Given the description of an element on the screen output the (x, y) to click on. 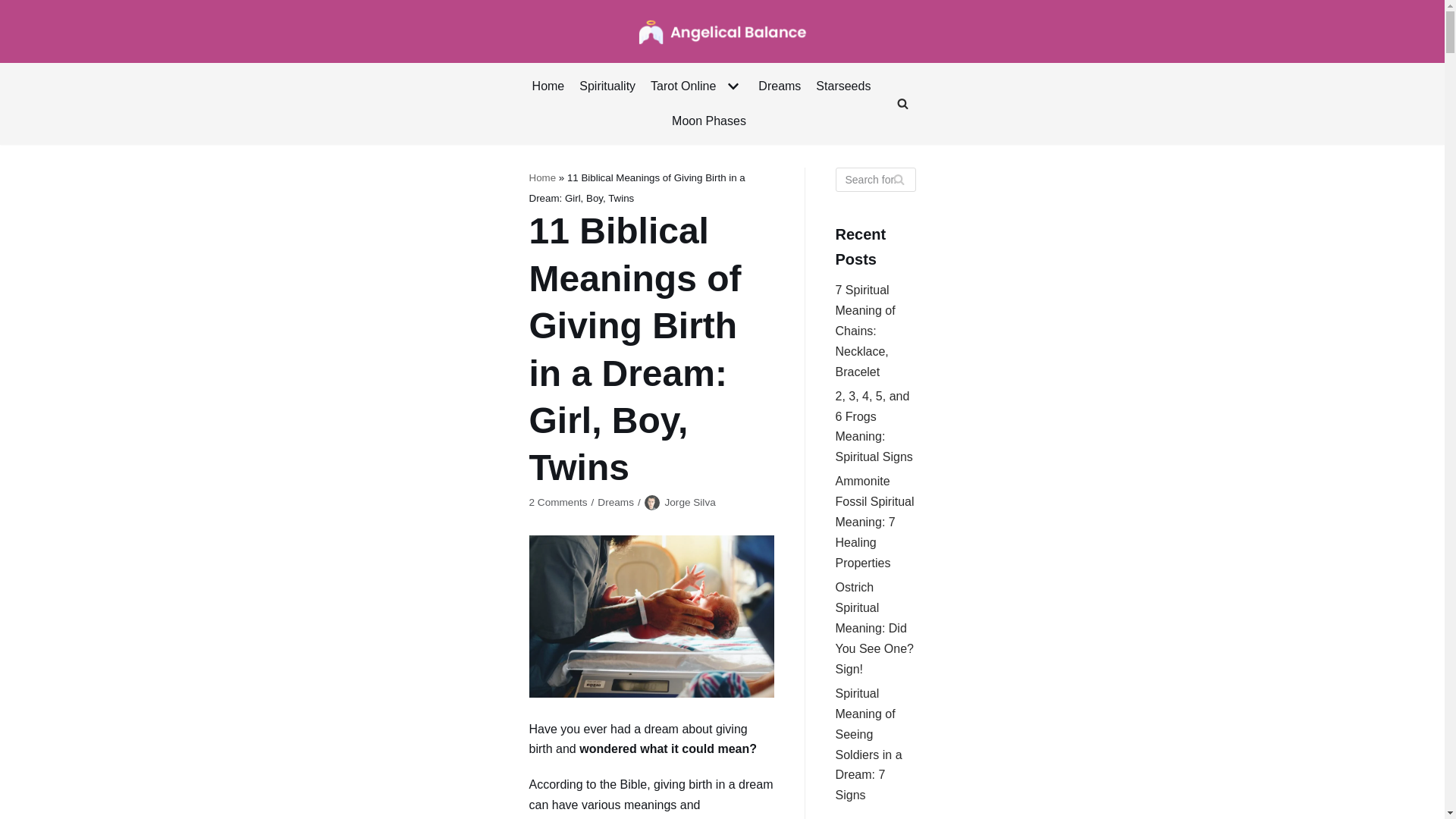
Skip to content (15, 7)
Posts by Jorge Silva (688, 501)
Angelical Balance (721, 31)
Dreams (779, 86)
Spirituality (606, 86)
Moon Phases (708, 121)
Starseeds (842, 86)
Home (548, 86)
Tarot Online (696, 86)
